Given the description of an element on the screen output the (x, y) to click on. 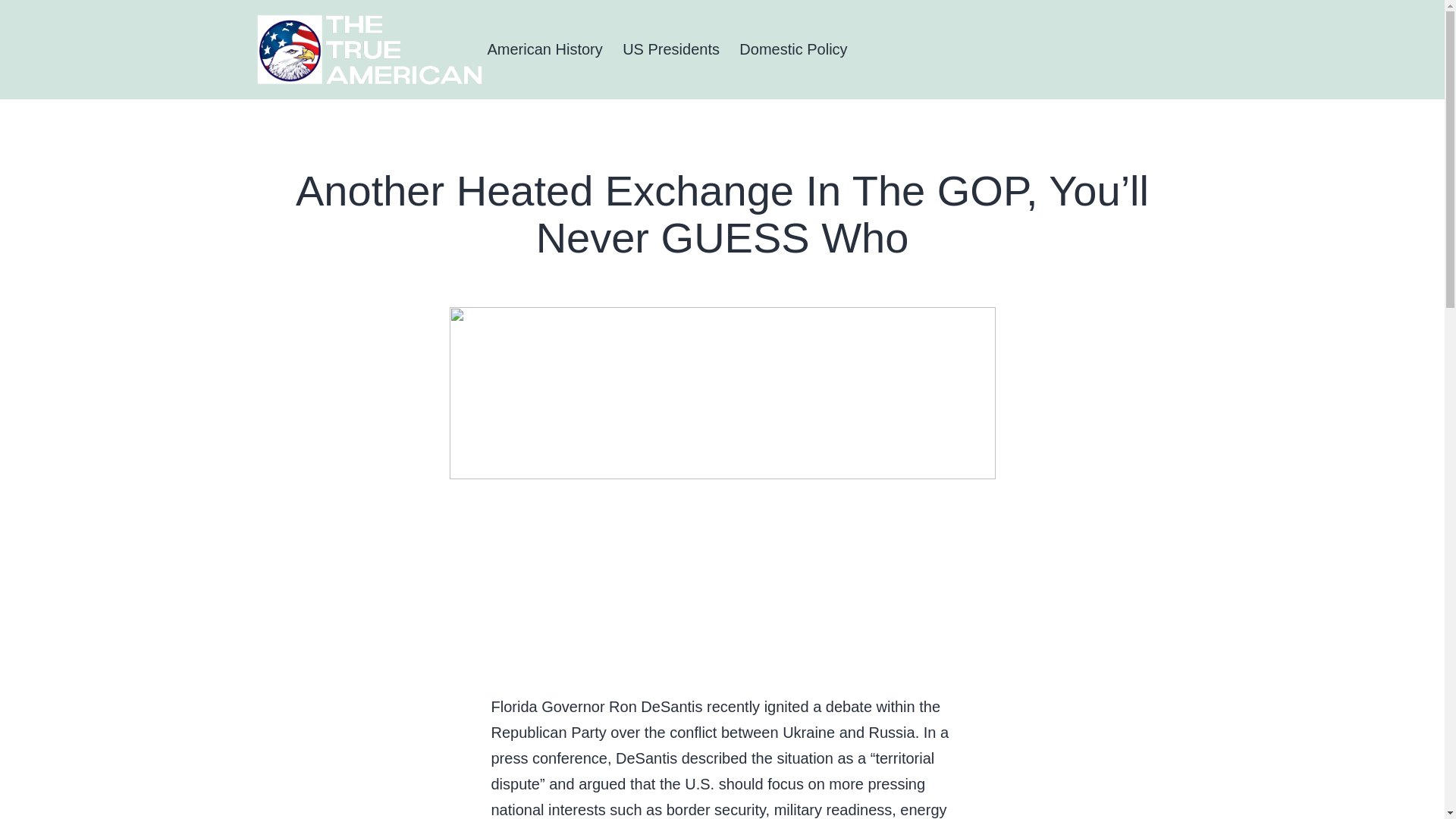
American History (544, 49)
Domestic Policy (793, 49)
US Presidents (670, 49)
